Given the description of an element on the screen output the (x, y) to click on. 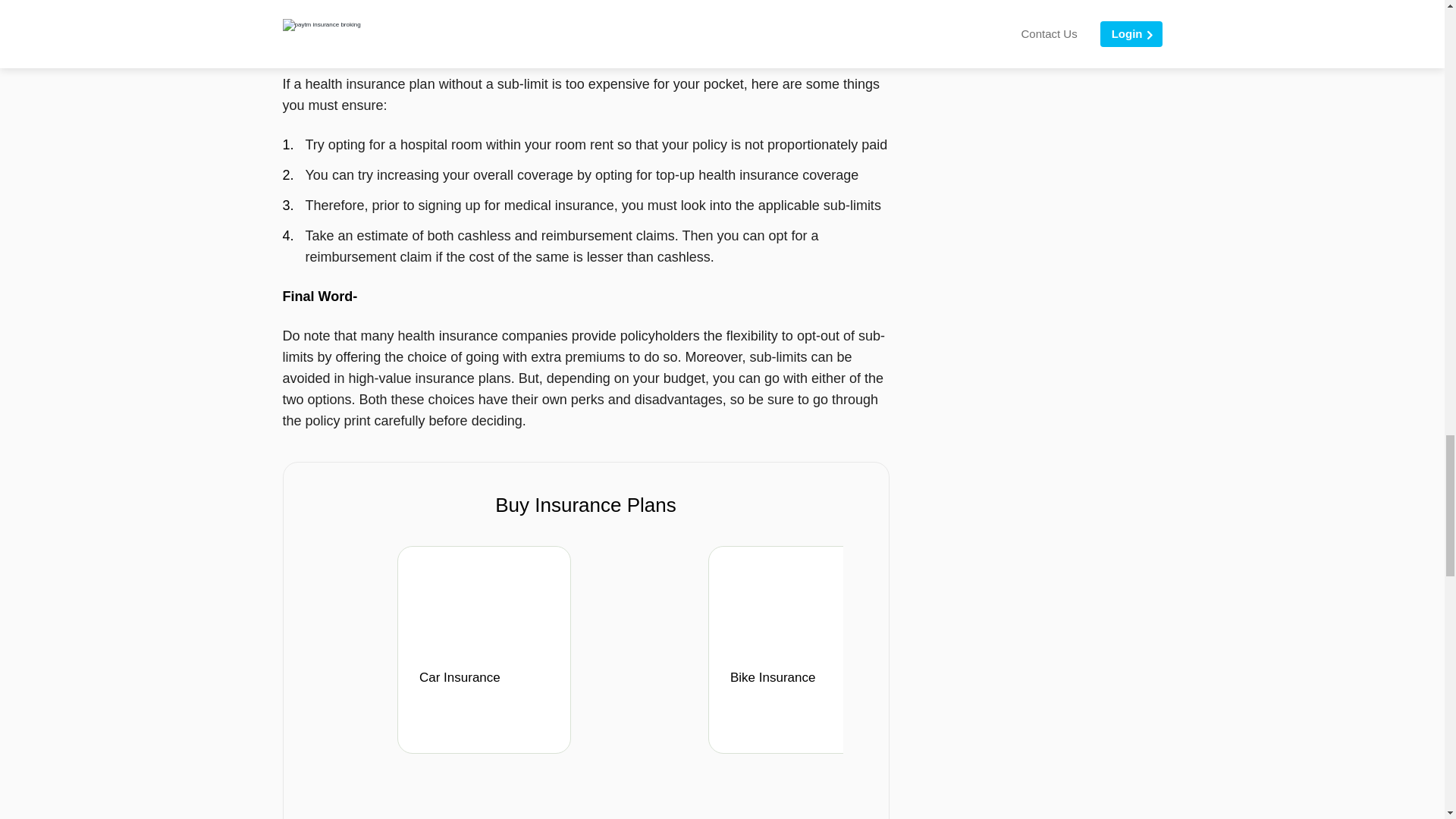
Health Insurance (1110, 686)
Car Insurance (488, 686)
Bike Insurance (799, 686)
